Given the description of an element on the screen output the (x, y) to click on. 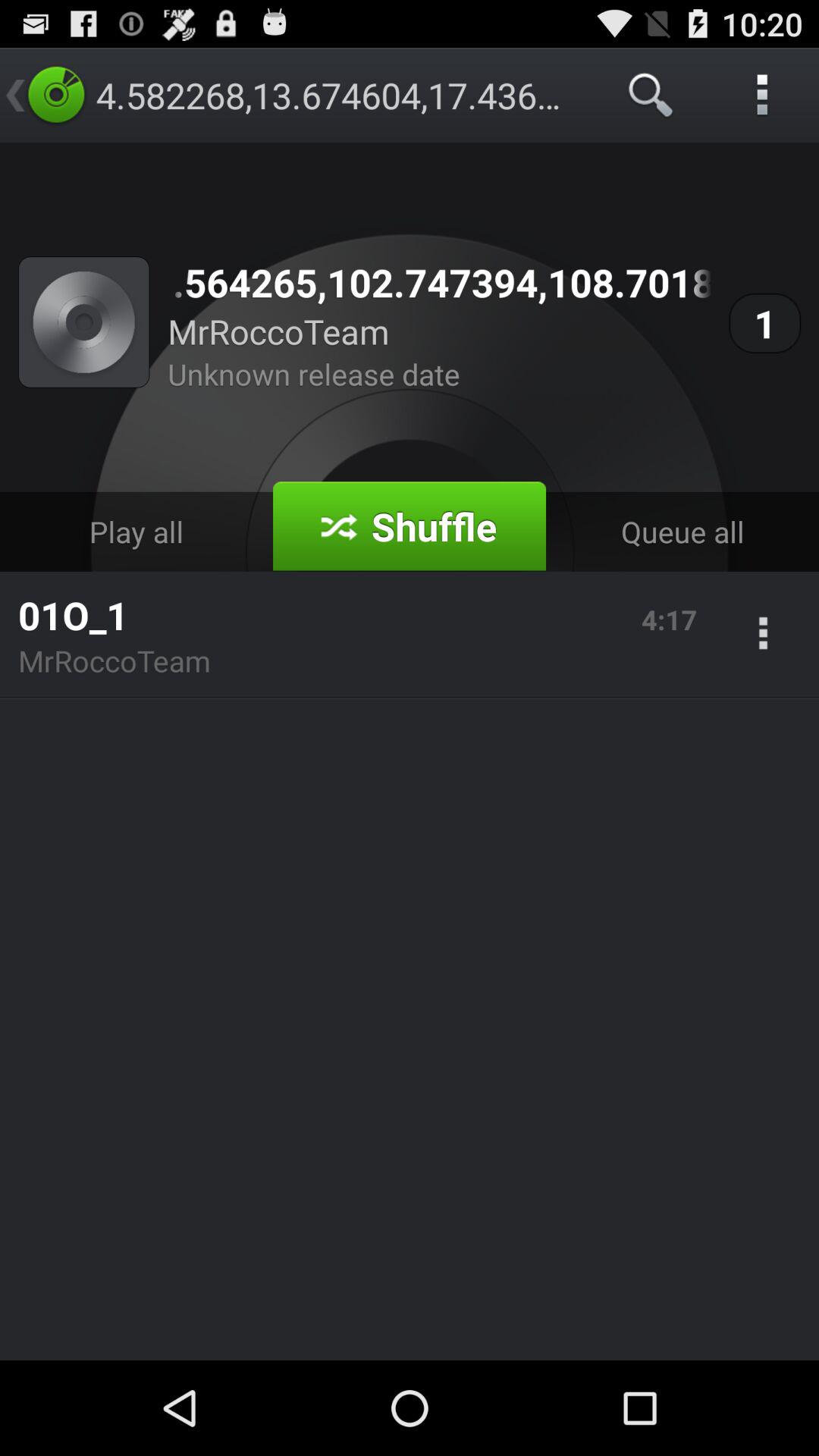
press the app next to 4 582268 13 item (651, 95)
